Given the description of an element on the screen output the (x, y) to click on. 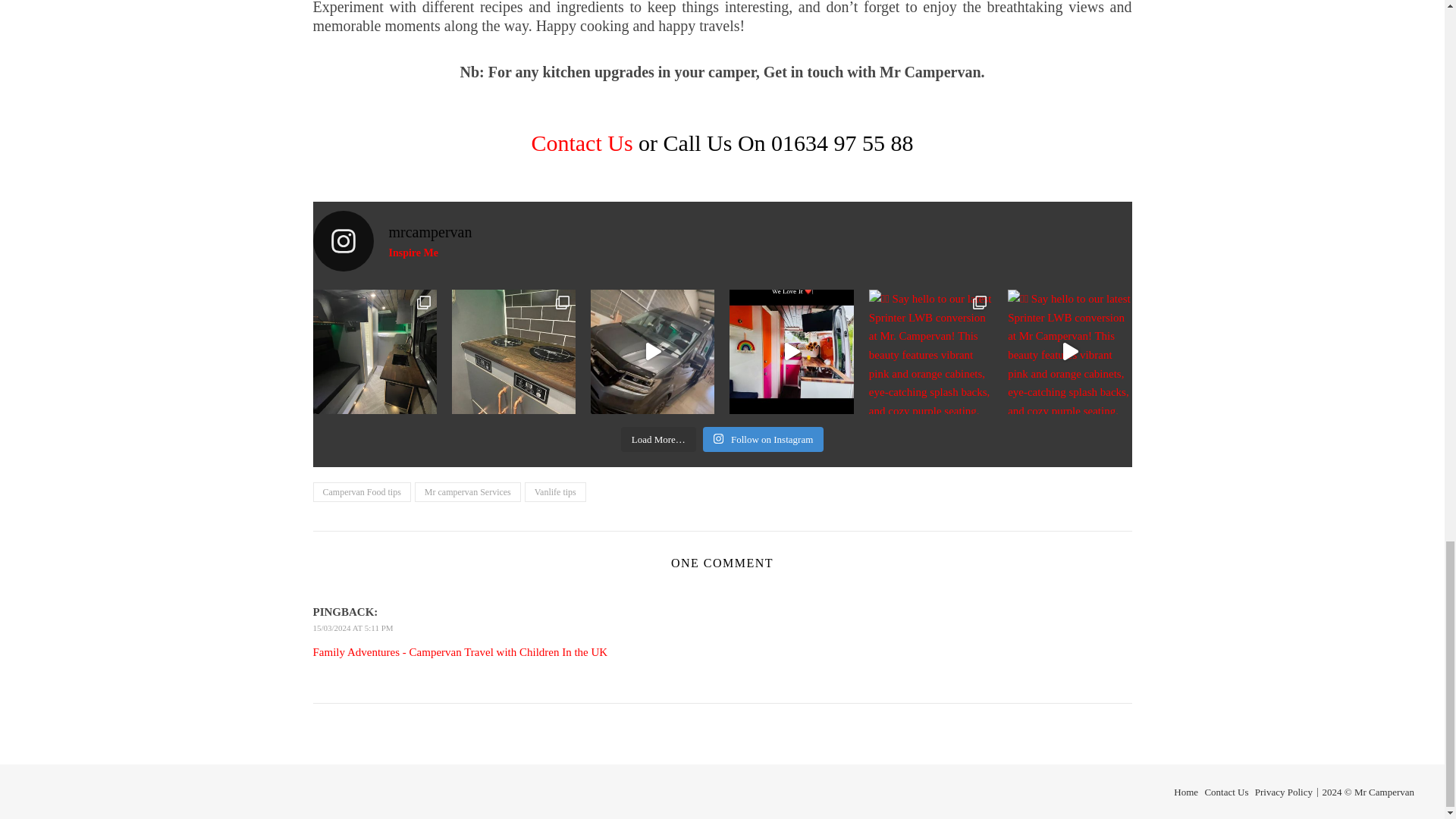
Contact Us (722, 240)
Follow on Instagram (581, 142)
